Given the description of an element on the screen output the (x, y) to click on. 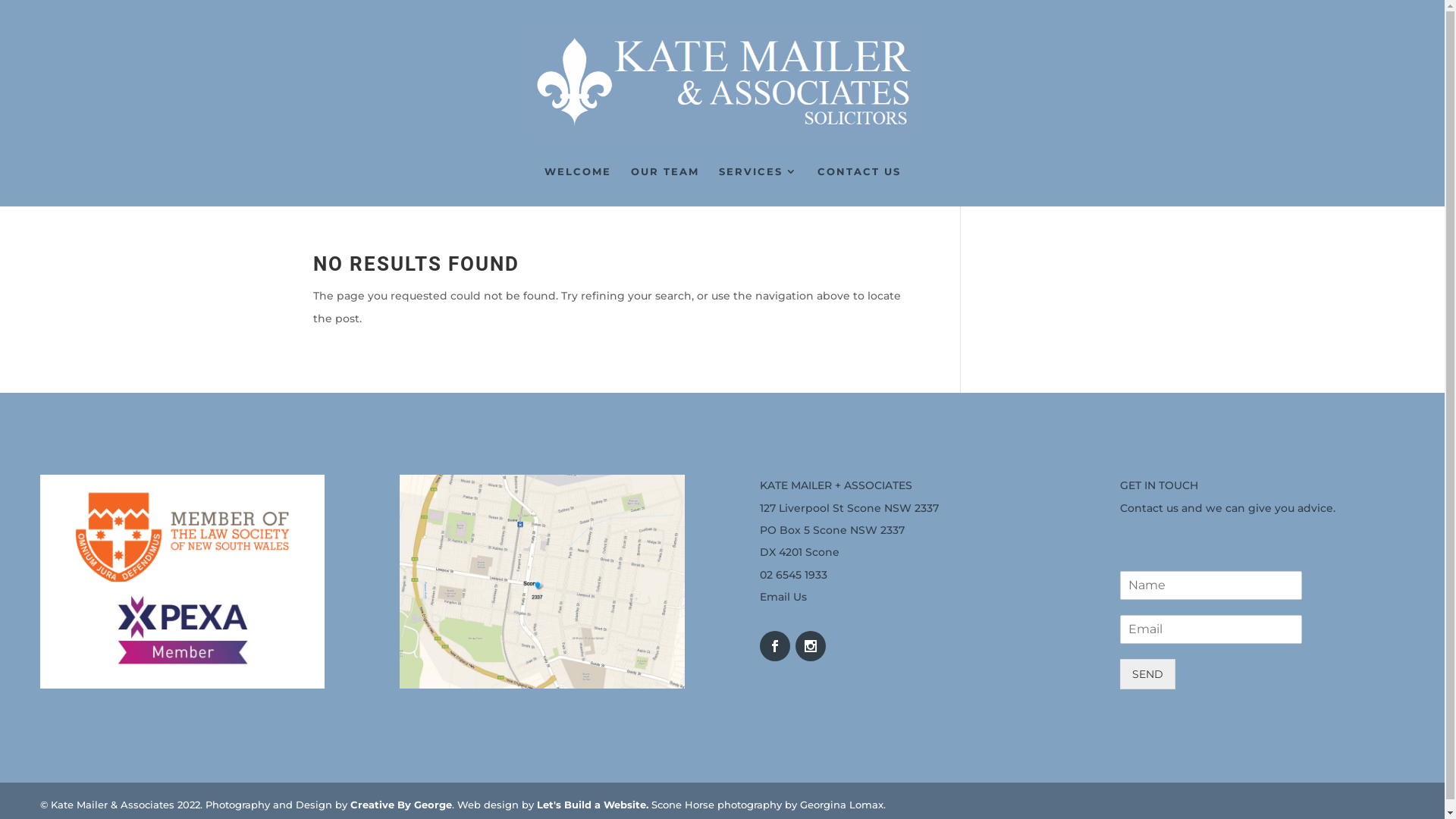
OUR TEAM Element type: text (664, 186)
Email Us Element type: text (782, 596)
CONTACT US Element type: text (858, 186)
SERVICES Element type: text (757, 186)
02 6545 1933 Element type: text (793, 574)
SEND Element type: text (1146, 673)
WELCOME Element type: text (577, 186)
Creative By George Element type: text (400, 804)
Let's Build a Website. Element type: text (592, 804)
